Given the description of an element on the screen output the (x, y) to click on. 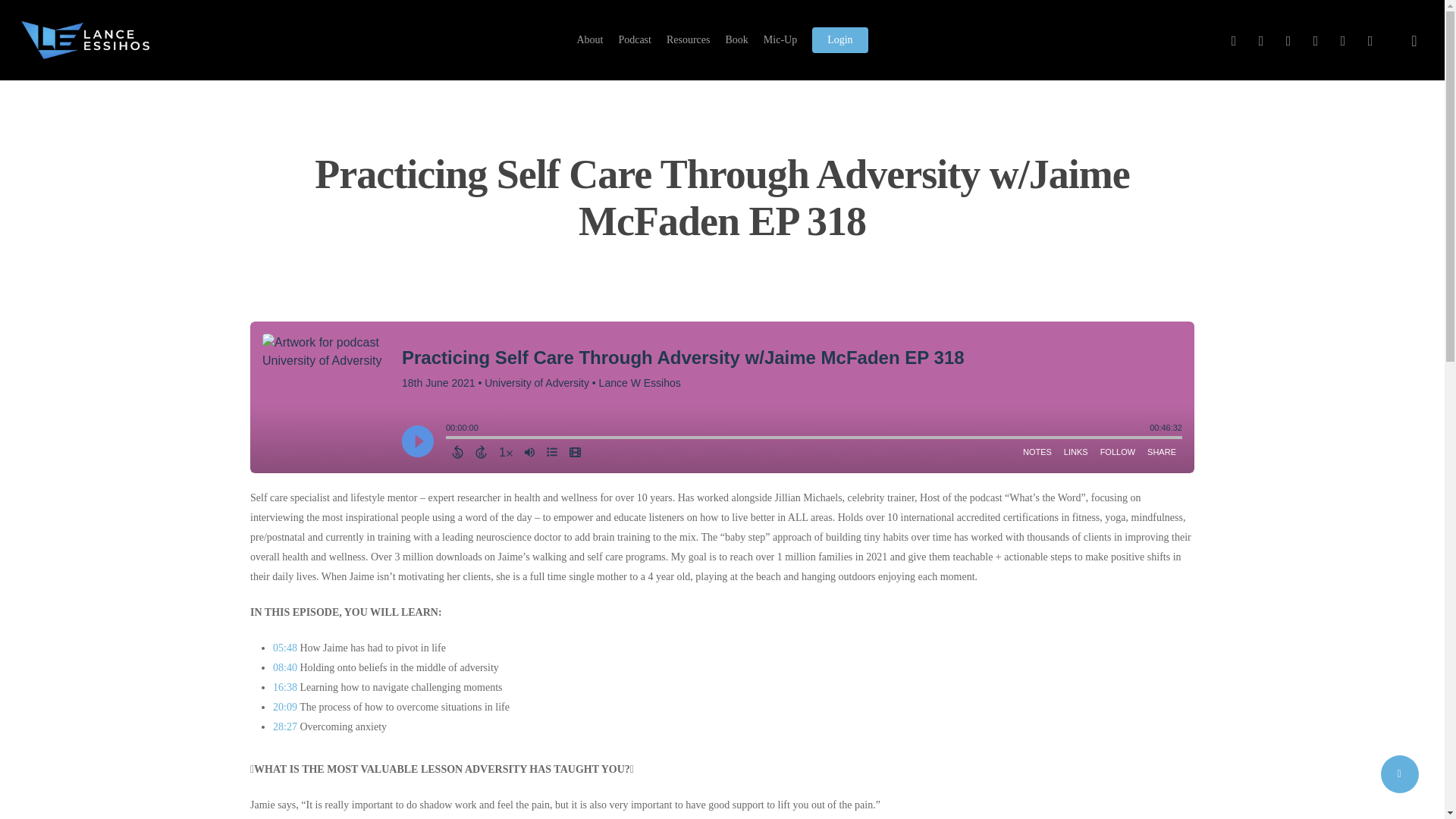
08:40 (285, 667)
05:48 (285, 647)
About (589, 39)
Podcast (633, 39)
20:09 (285, 706)
Login (839, 39)
28:27 (285, 726)
Mic-Up (779, 39)
Book (736, 39)
Resources (688, 39)
16:38 (285, 686)
